Given the description of an element on the screen output the (x, y) to click on. 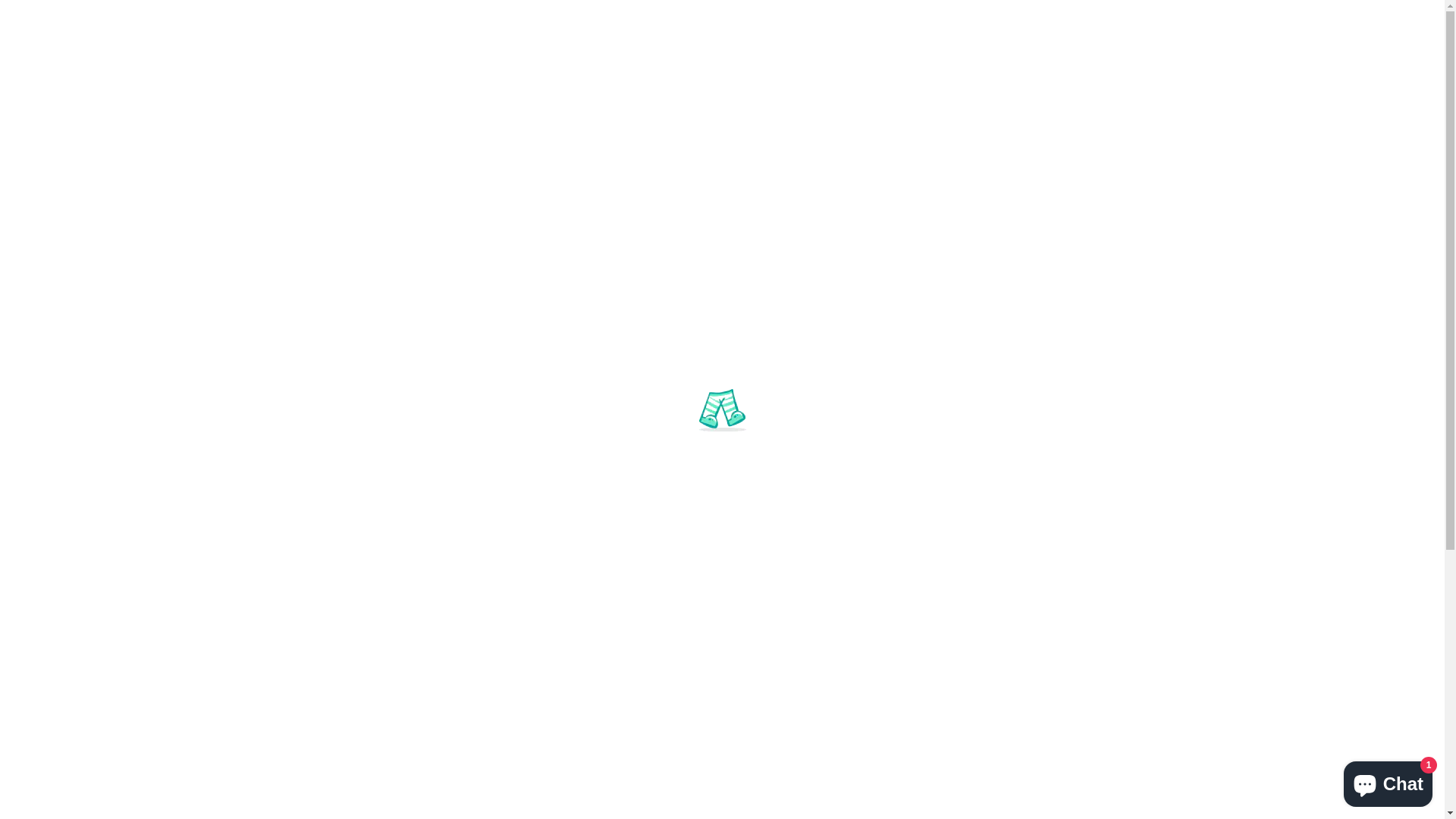
0
My cart
$0.00 Element type: text (1128, 108)
ABOUT Element type: text (664, 209)
Shopify online store chat Element type: hover (1388, 780)
LOGIN Element type: text (1134, 15)
CONTACT US Element type: text (871, 209)
CREATE AN ACCOUNT Element type: text (1257, 15)
Home Element type: text (302, 283)
FACEBOOK Element type: text (56, 15)
HOME Element type: text (440, 209)
SHOP OUR RANGE Element type: text (551, 209)
SIZE CHART Element type: text (986, 209)
STOCKISTS Element type: text (760, 209)
Add to Cart Element type: text (740, 588)
INSTAGRAM Element type: text (164, 15)
CHECKOUT Element type: text (1394, 15)
